Given the description of an element on the screen output the (x, y) to click on. 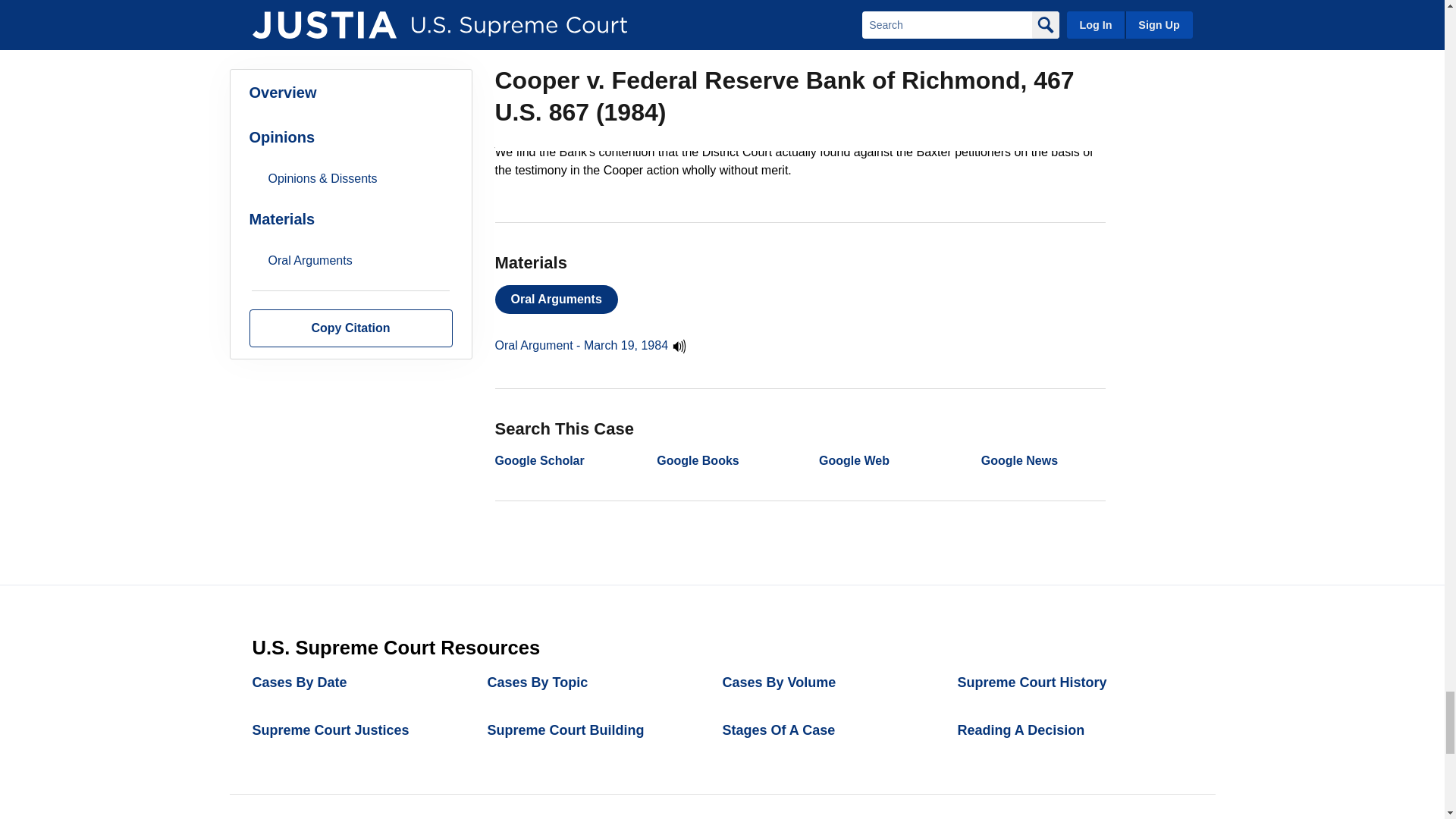
Law - Google Books (697, 460)
Law - Google Scholar (539, 460)
Law - Google Web (853, 460)
Law - Google News (1019, 460)
